Given the description of an element on the screen output the (x, y) to click on. 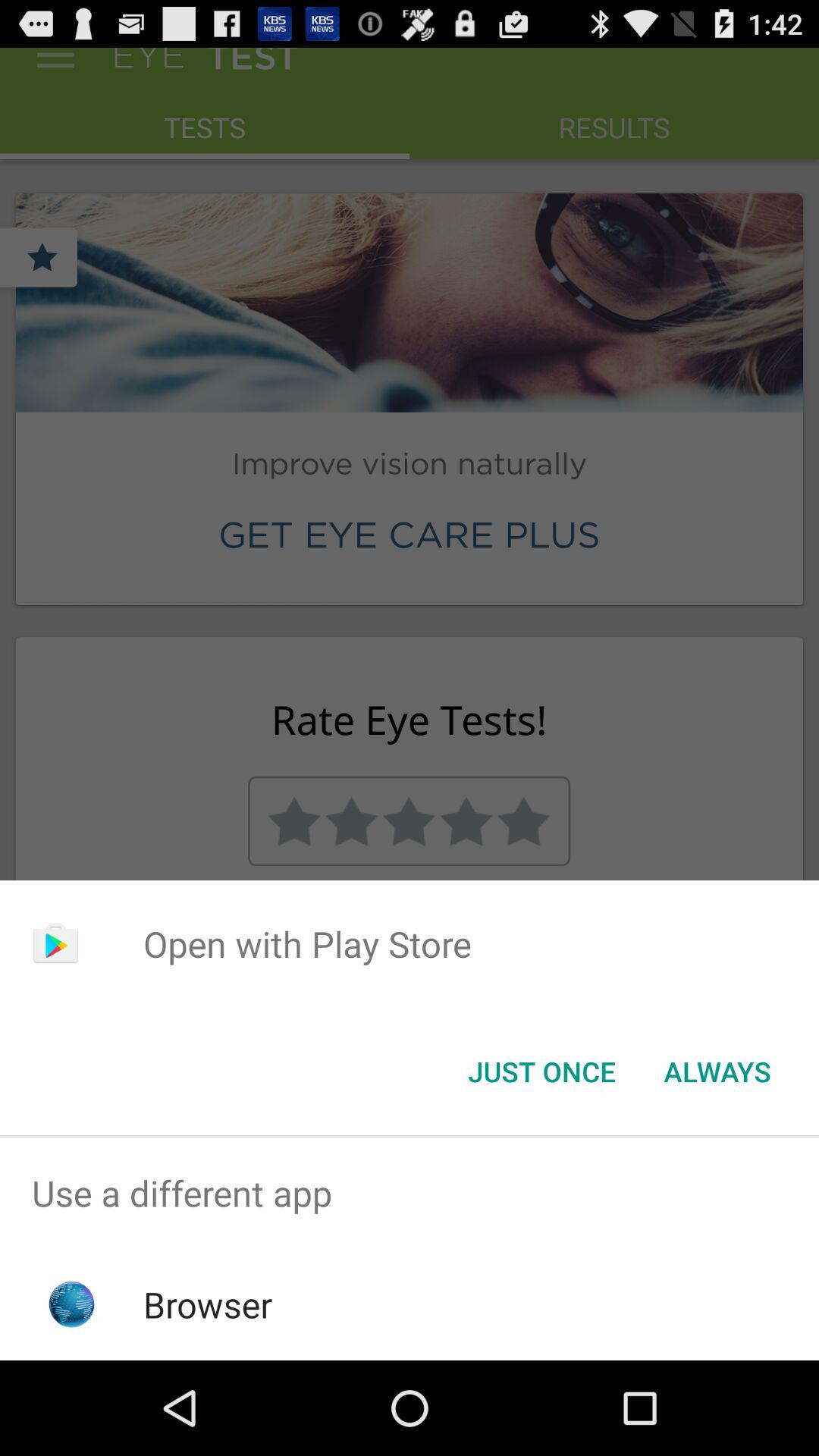
tap button next to the always button (541, 1071)
